Given the description of an element on the screen output the (x, y) to click on. 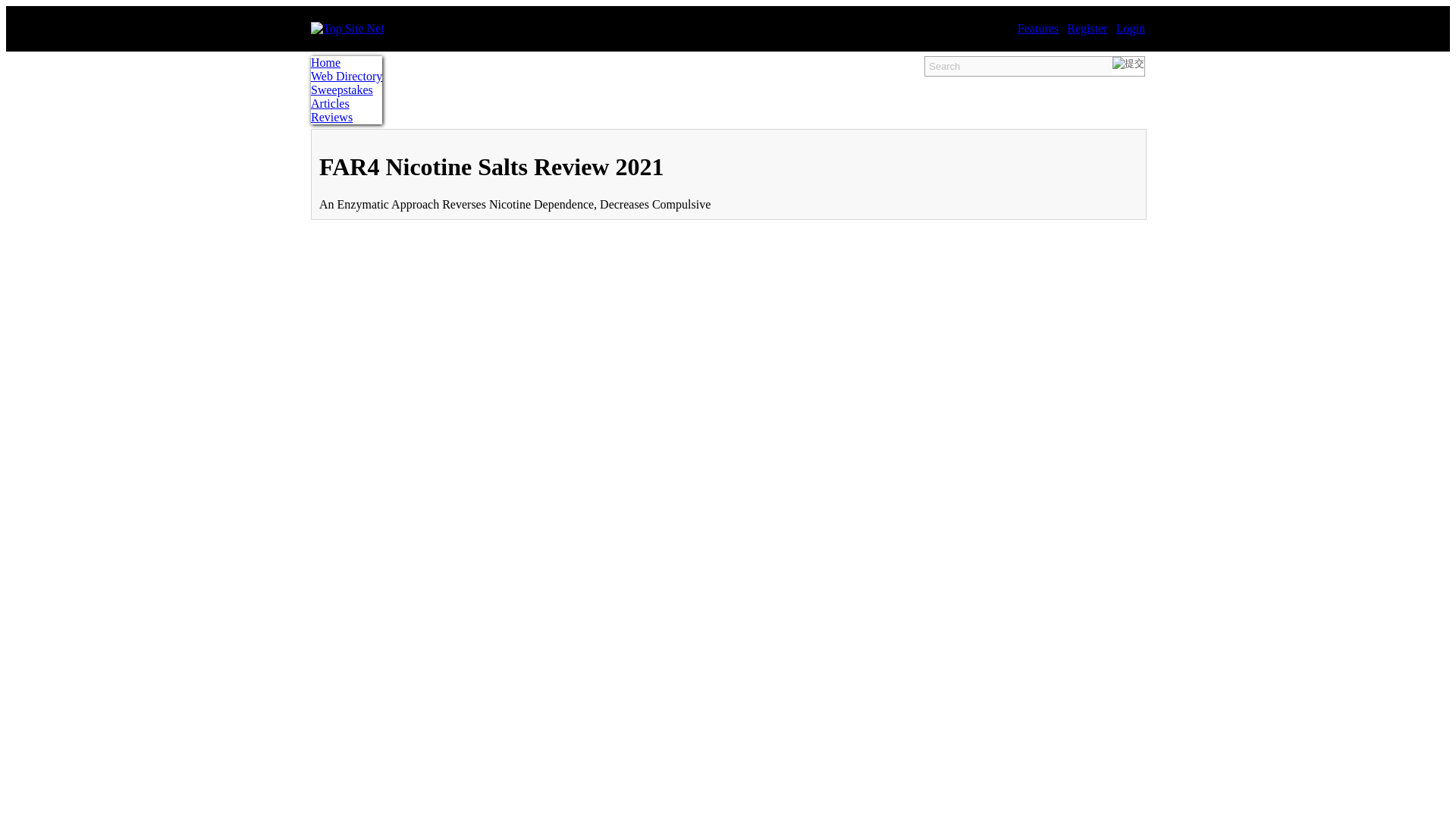
Features (1037, 28)
Search (1018, 66)
Web Directory (346, 76)
Home (346, 62)
Reviews (346, 117)
Sweepstakes (346, 90)
Register (1086, 28)
Top Site Net (347, 28)
Articles (346, 103)
Login (1130, 28)
